Given the description of an element on the screen output the (x, y) to click on. 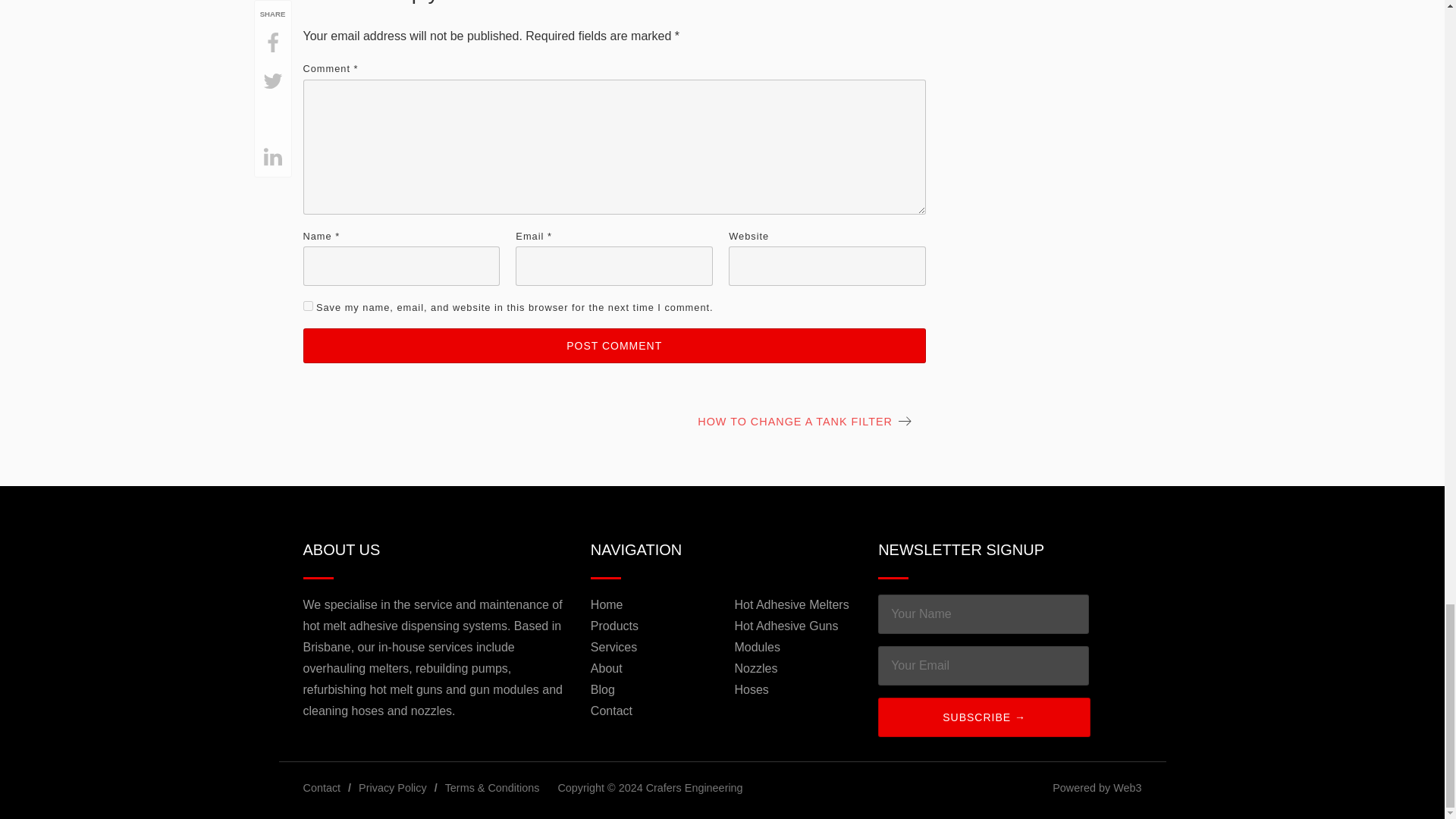
Privacy Policy (392, 787)
yes (307, 306)
Post Comment (614, 345)
Contact (321, 787)
